Given the description of an element on the screen output the (x, y) to click on. 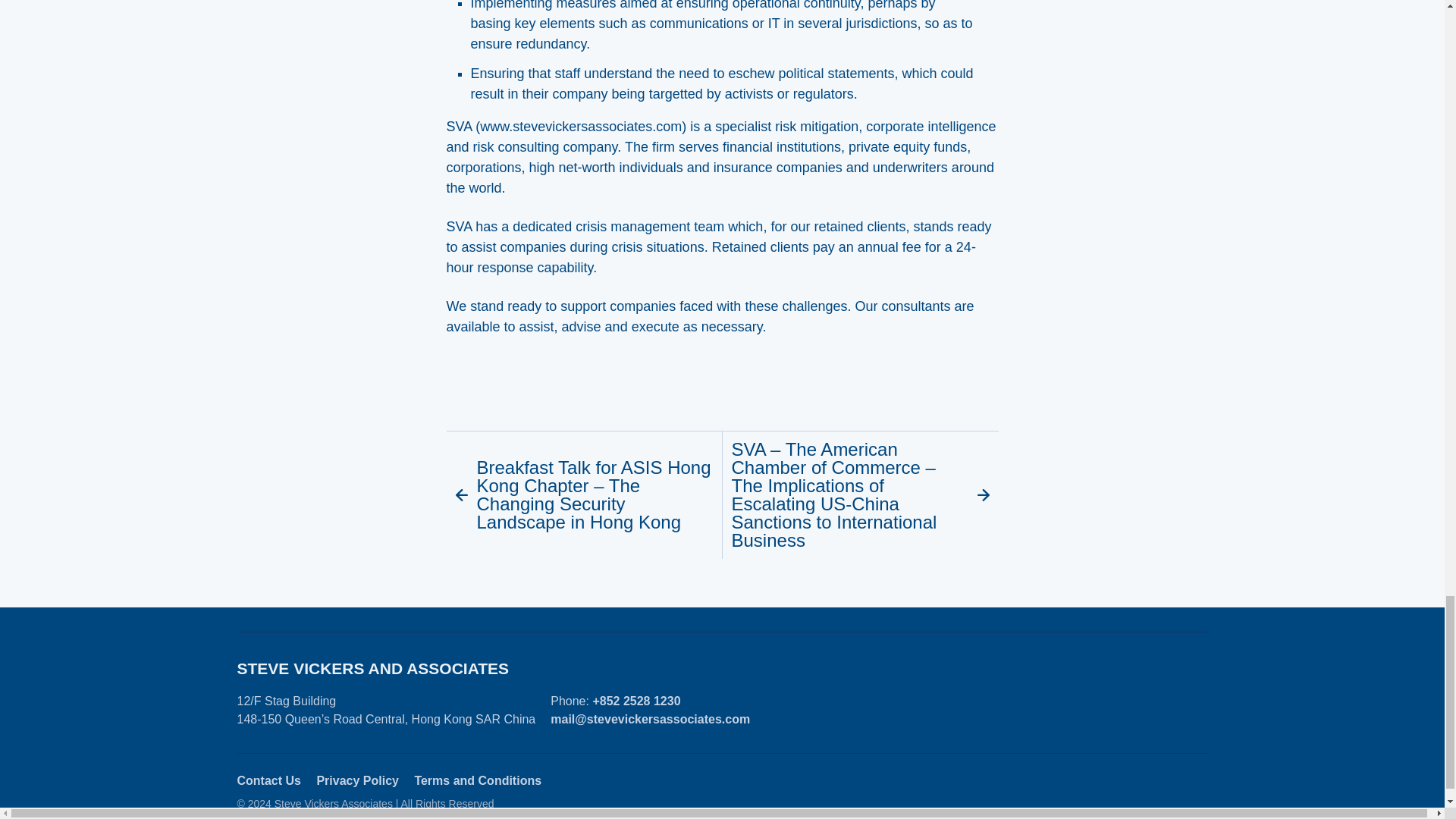
Privacy Policy (356, 780)
Contact Us (267, 780)
www.stevevickersassociates.com (580, 126)
Terms and Conditions (477, 780)
